Given the description of an element on the screen output the (x, y) to click on. 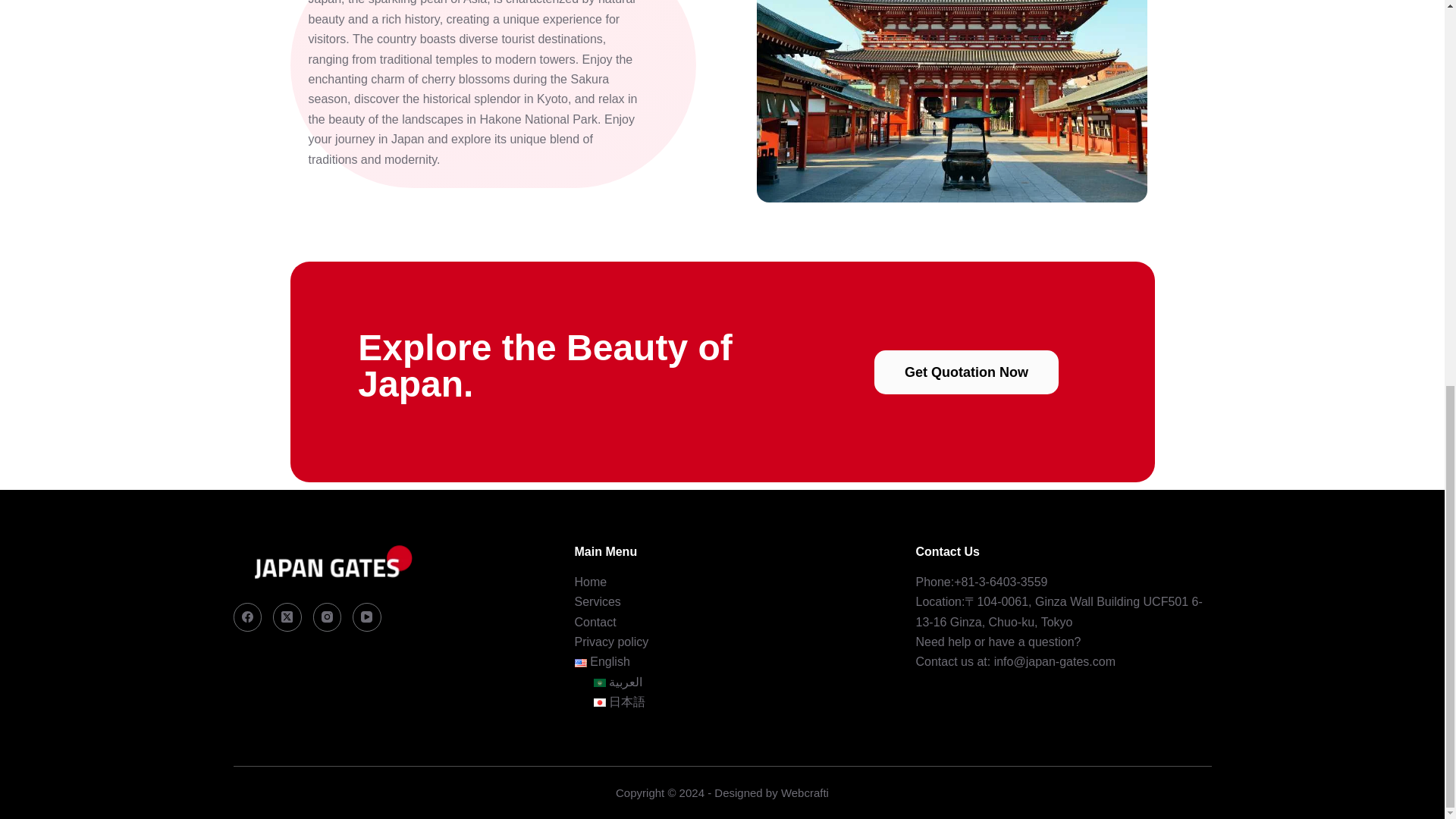
Get Quotation Now (966, 371)
Services (598, 601)
Privacy policy (612, 641)
English (602, 661)
Home (591, 581)
Contact (595, 621)
